Given the description of an element on the screen output the (x, y) to click on. 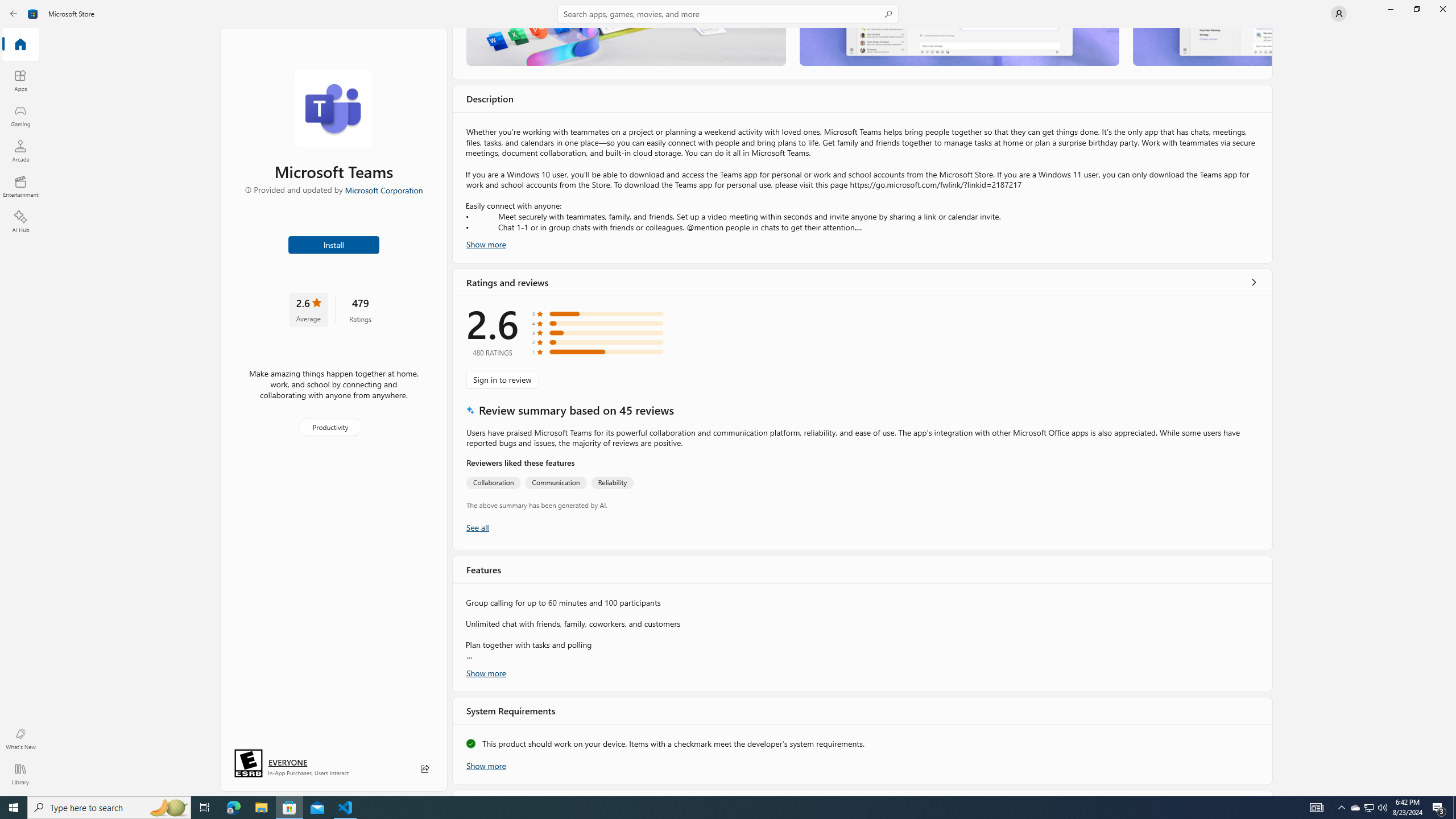
Screenshot 3 (1201, 46)
Share (424, 769)
Show all ratings and reviews (1253, 281)
Back (13, 13)
AutomationID: NavigationControl (728, 398)
Productivity (329, 426)
Microsoft Corporation (383, 189)
Screenshot 1 (625, 46)
2.6 stars. Click to skip to ratings and reviews (307, 309)
